Given the description of an element on the screen output the (x, y) to click on. 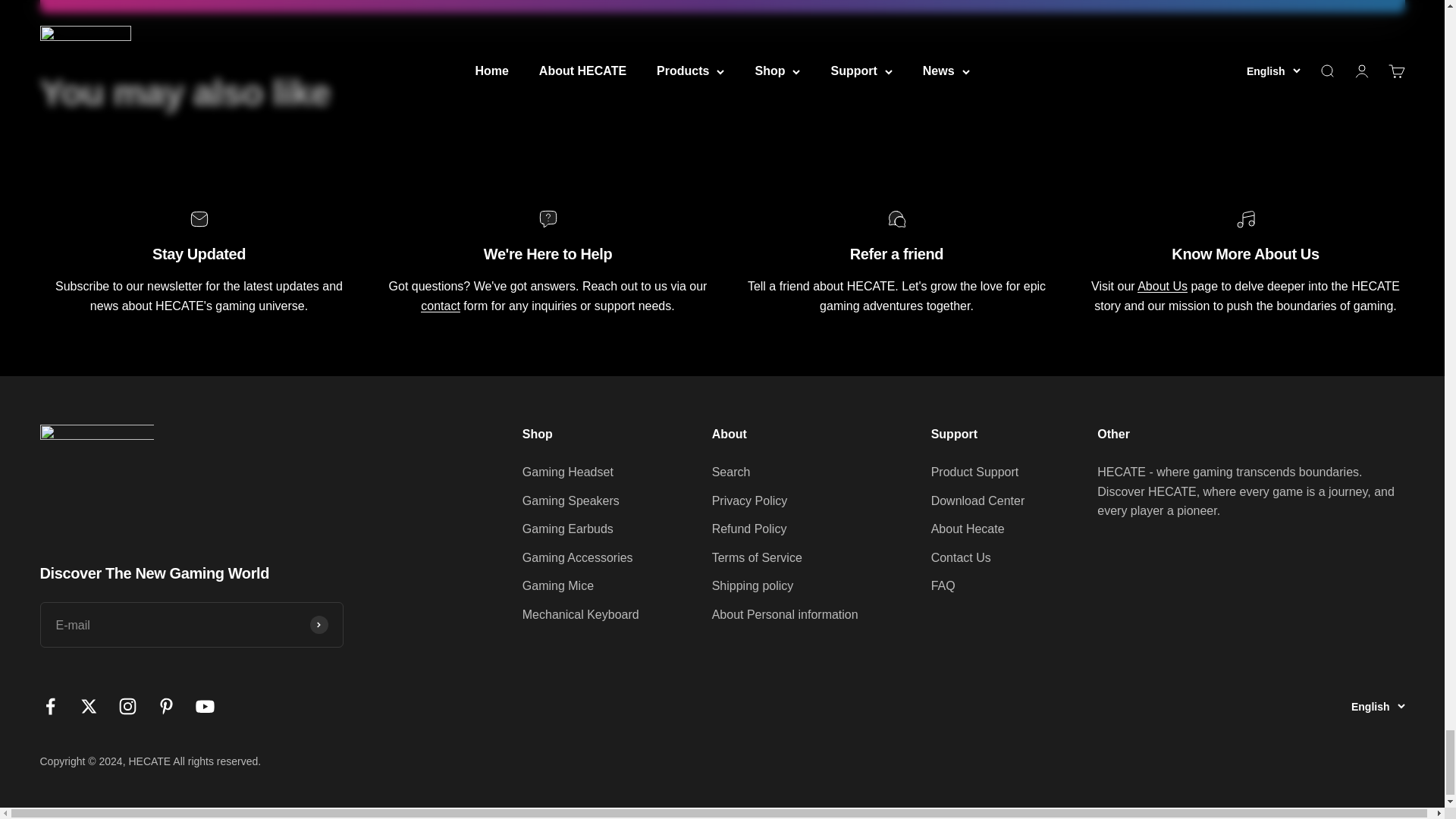
About Us (728, 433)
Contact Us (440, 305)
Product Support (953, 433)
About Us (1162, 286)
